Given the description of an element on the screen output the (x, y) to click on. 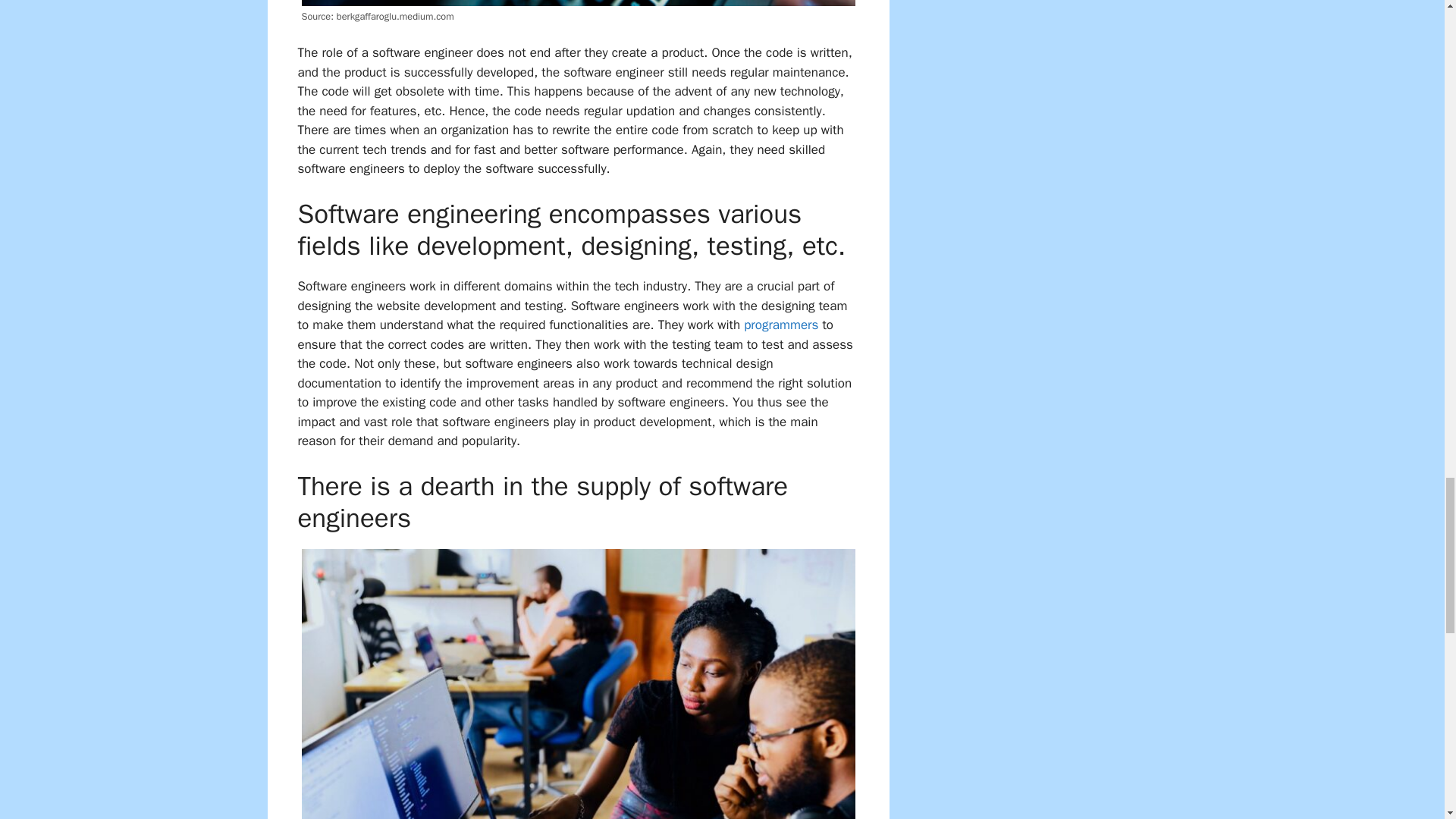
programmers (781, 324)
